Given the description of an element on the screen output the (x, y) to click on. 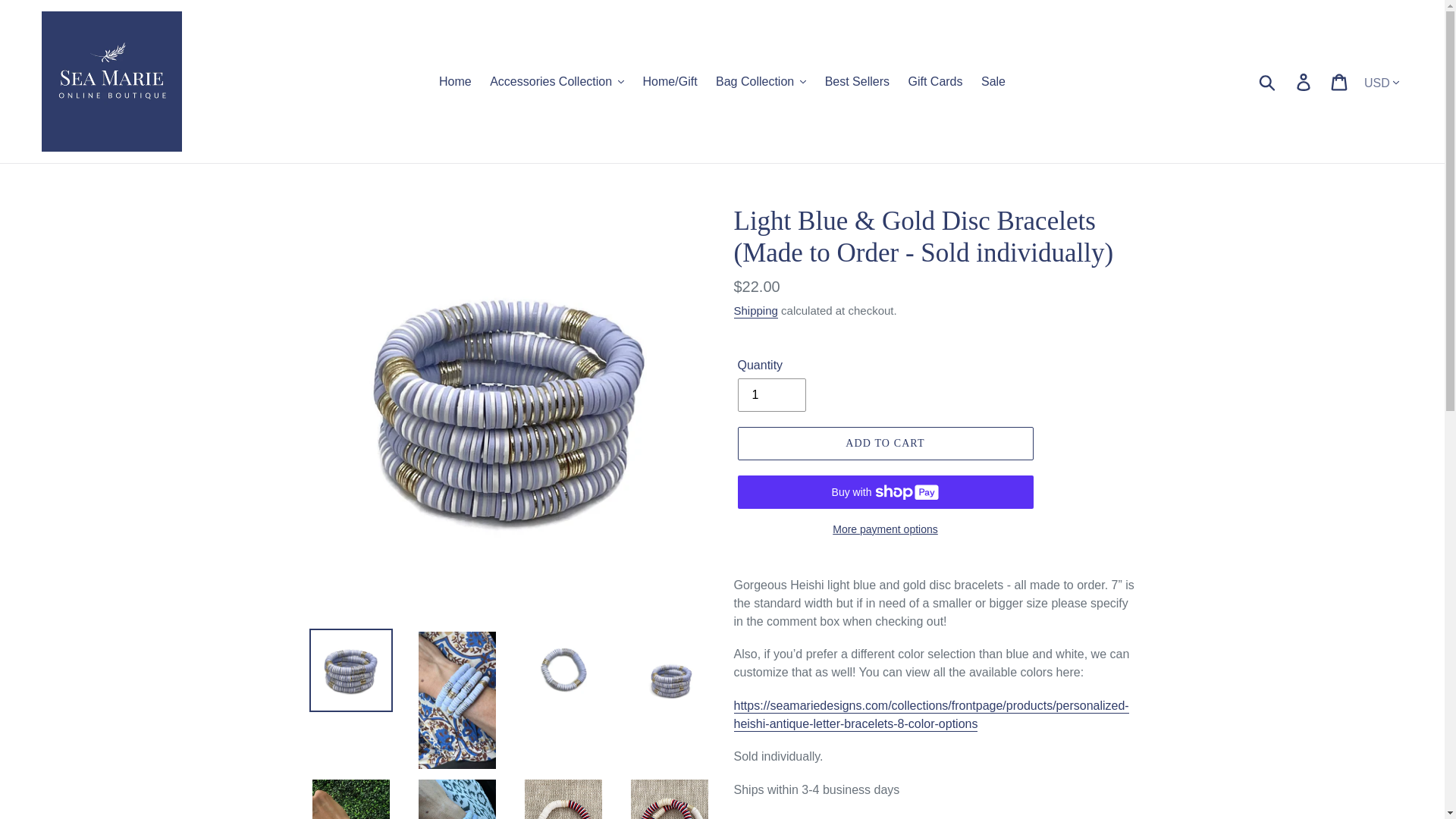
1 (770, 394)
Gift Cards (934, 80)
Cart (1340, 80)
Submit (1268, 80)
Best Sellers (856, 80)
Home (454, 80)
Sale (993, 80)
Log in (1304, 80)
